Given the description of an element on the screen output the (x, y) to click on. 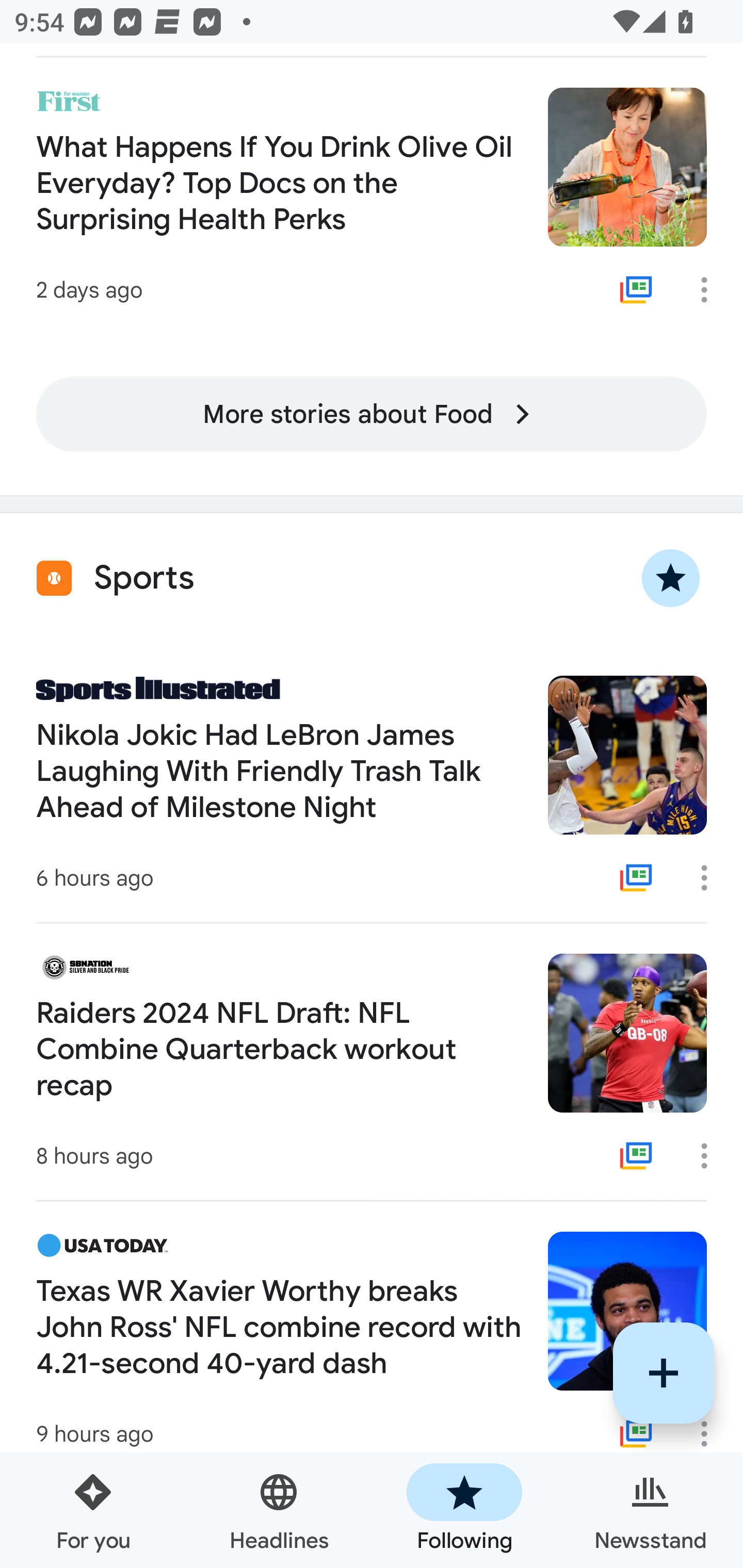
More options (711, 290)
More stories about Food (371, 413)
Sports Sports Unfollow (371, 577)
Unfollow (670, 577)
More options (711, 878)
More options (711, 1155)
Follow (663, 1372)
For you (92, 1509)
Headlines (278, 1509)
Following (464, 1509)
Newsstand (650, 1509)
